Given the description of an element on the screen output the (x, y) to click on. 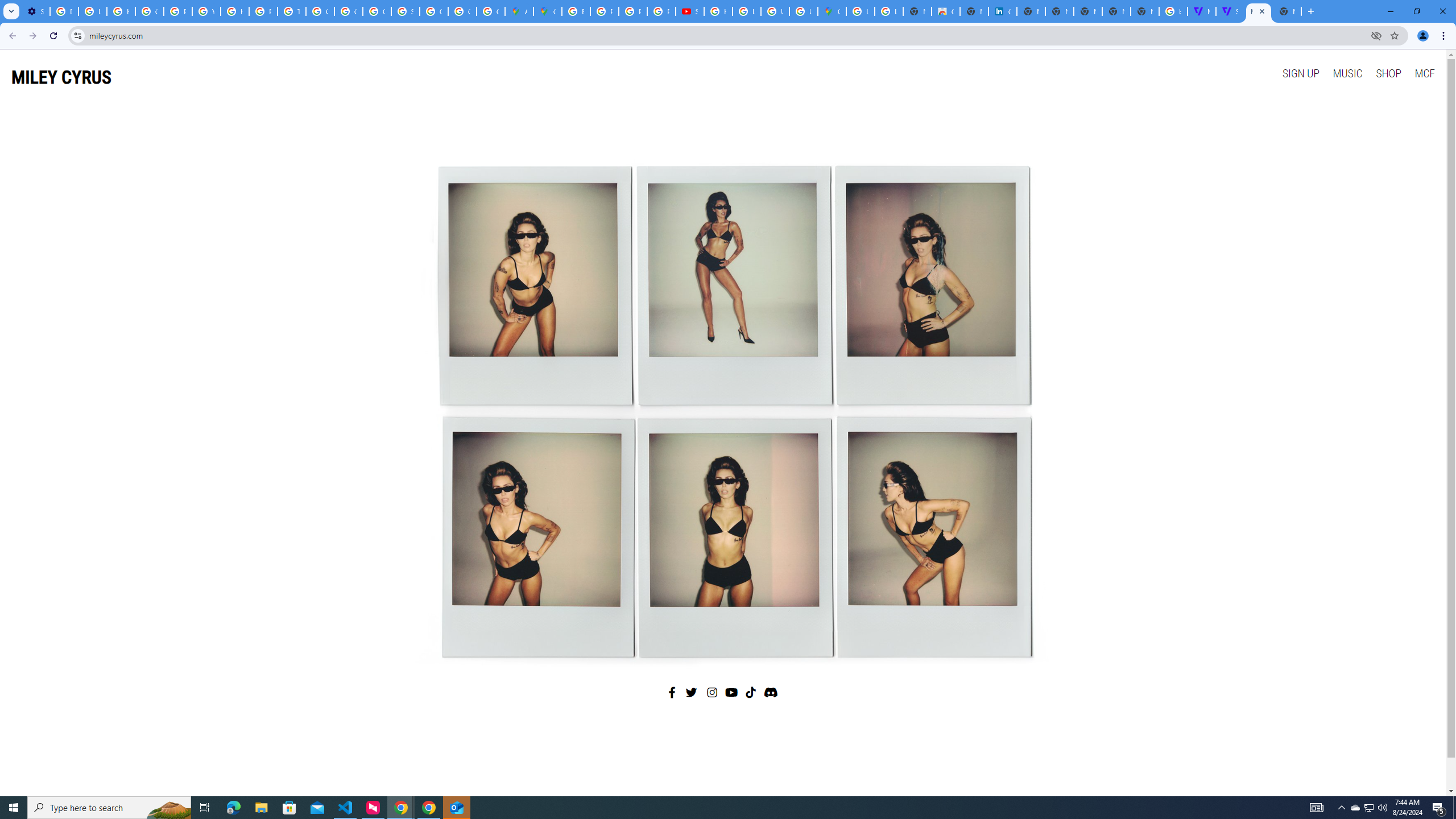
Chrome Web Store (945, 11)
Miley Cyrus (722, 407)
YouTube (206, 11)
